Given the description of an element on the screen output the (x, y) to click on. 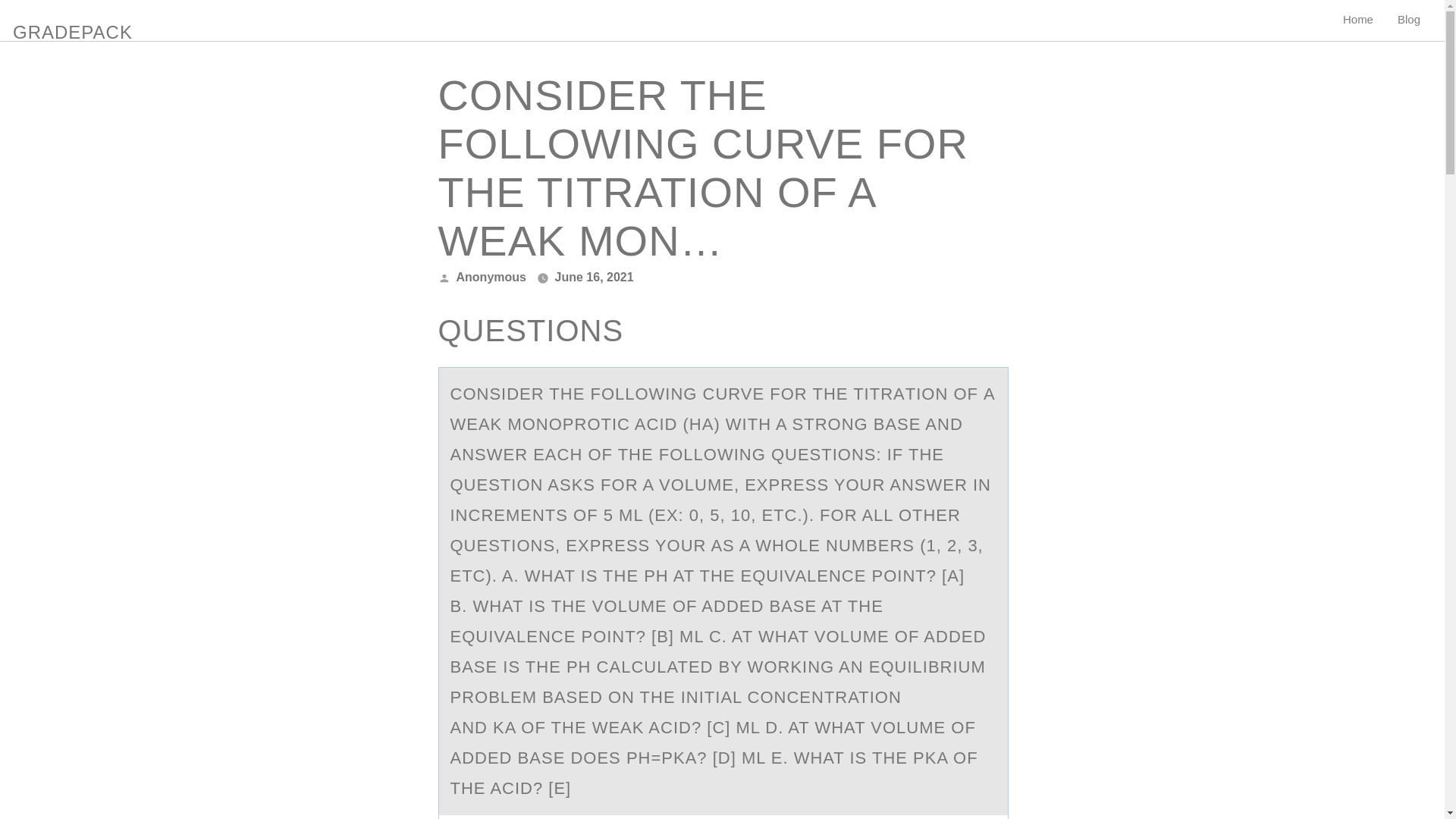
Anonymous (491, 277)
GRADEPACK (72, 28)
June 16, 2021 (593, 277)
